Given the description of an element on the screen output the (x, y) to click on. 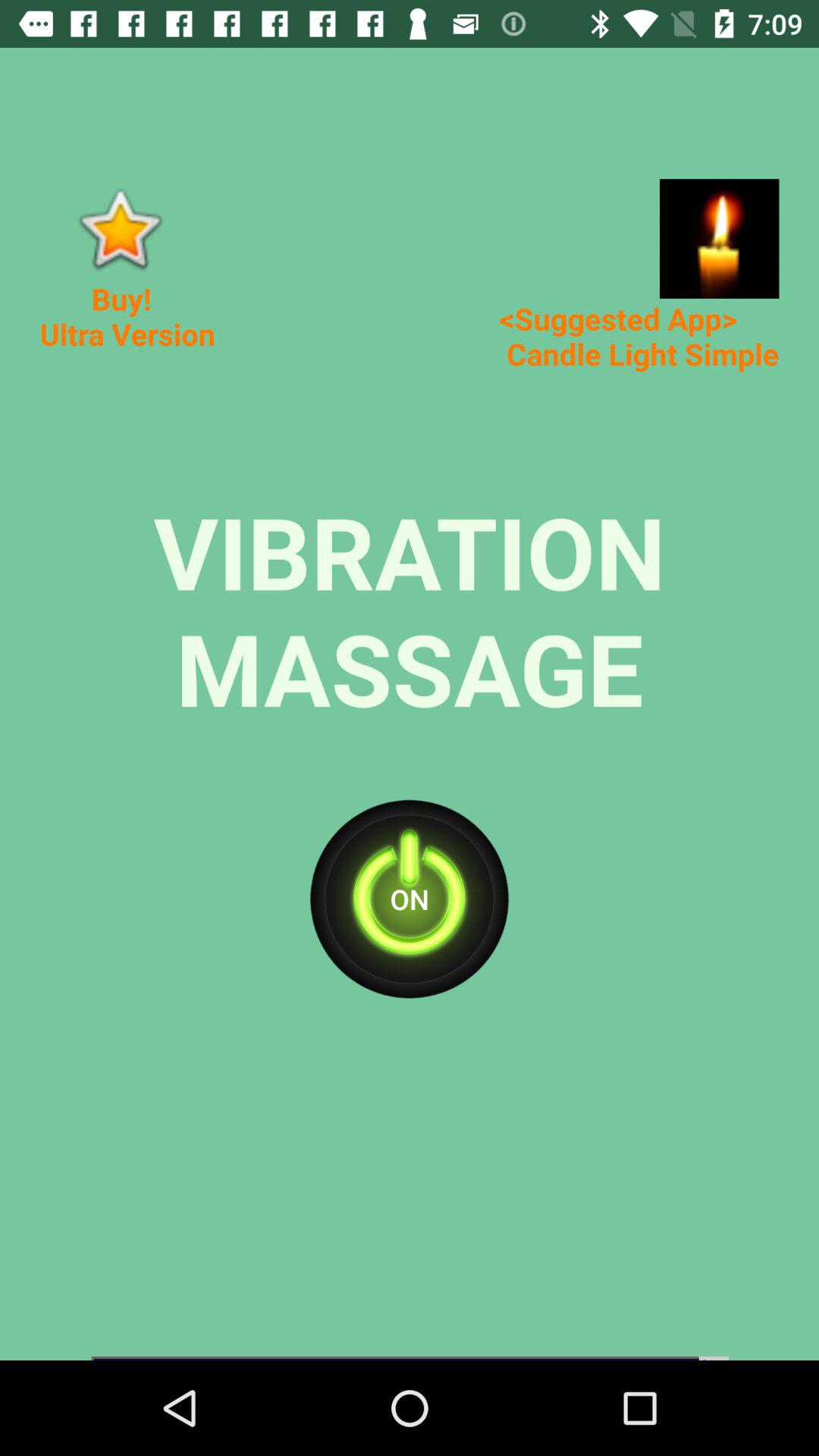
impotent wold (119, 228)
